Given the description of an element on the screen output the (x, y) to click on. 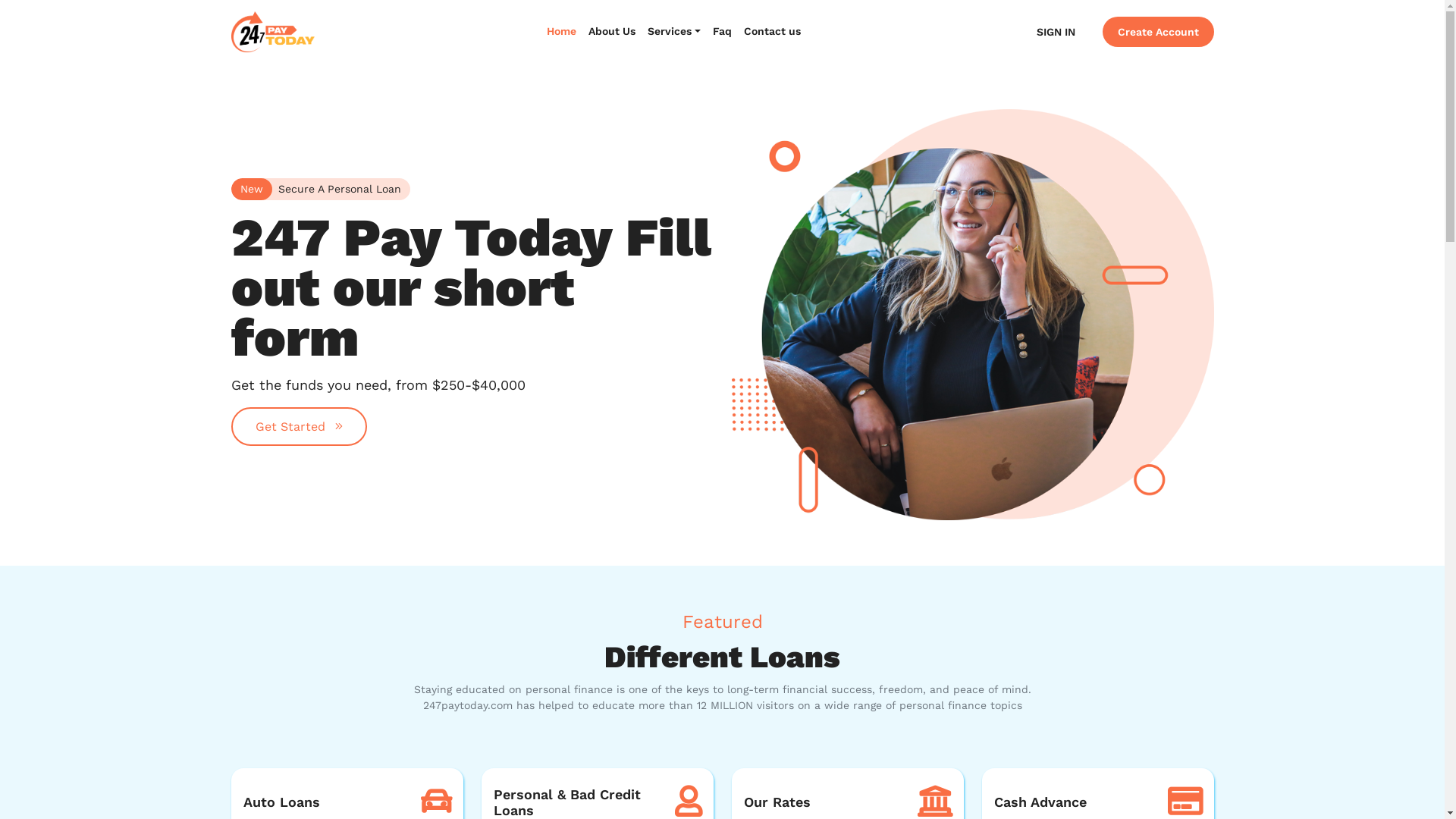
Contact us Element type: text (771, 31)
Home Element type: text (561, 31)
Faq Element type: text (721, 31)
Create Account Element type: text (1158, 31)
Services Element type: text (673, 31)
About Us Element type: text (611, 31)
SIGN IN Element type: text (1054, 31)
Get Started Element type: text (298, 426)
